Given the description of an element on the screen output the (x, y) to click on. 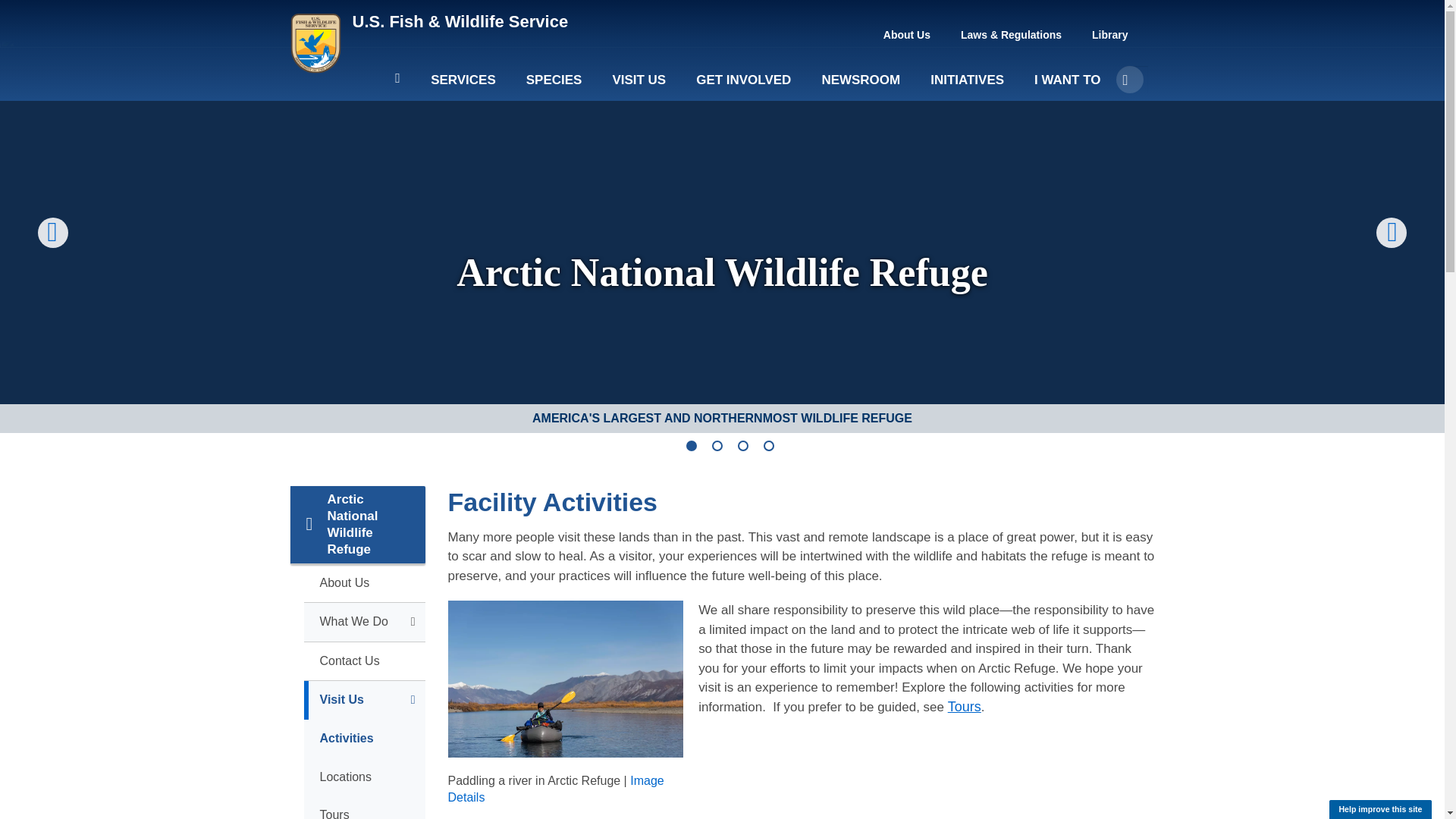
FWS Home (459, 21)
Library (1109, 34)
SERVICES (463, 86)
About Us (906, 34)
Access services provided by FWS (463, 86)
